Given the description of an element on the screen output the (x, y) to click on. 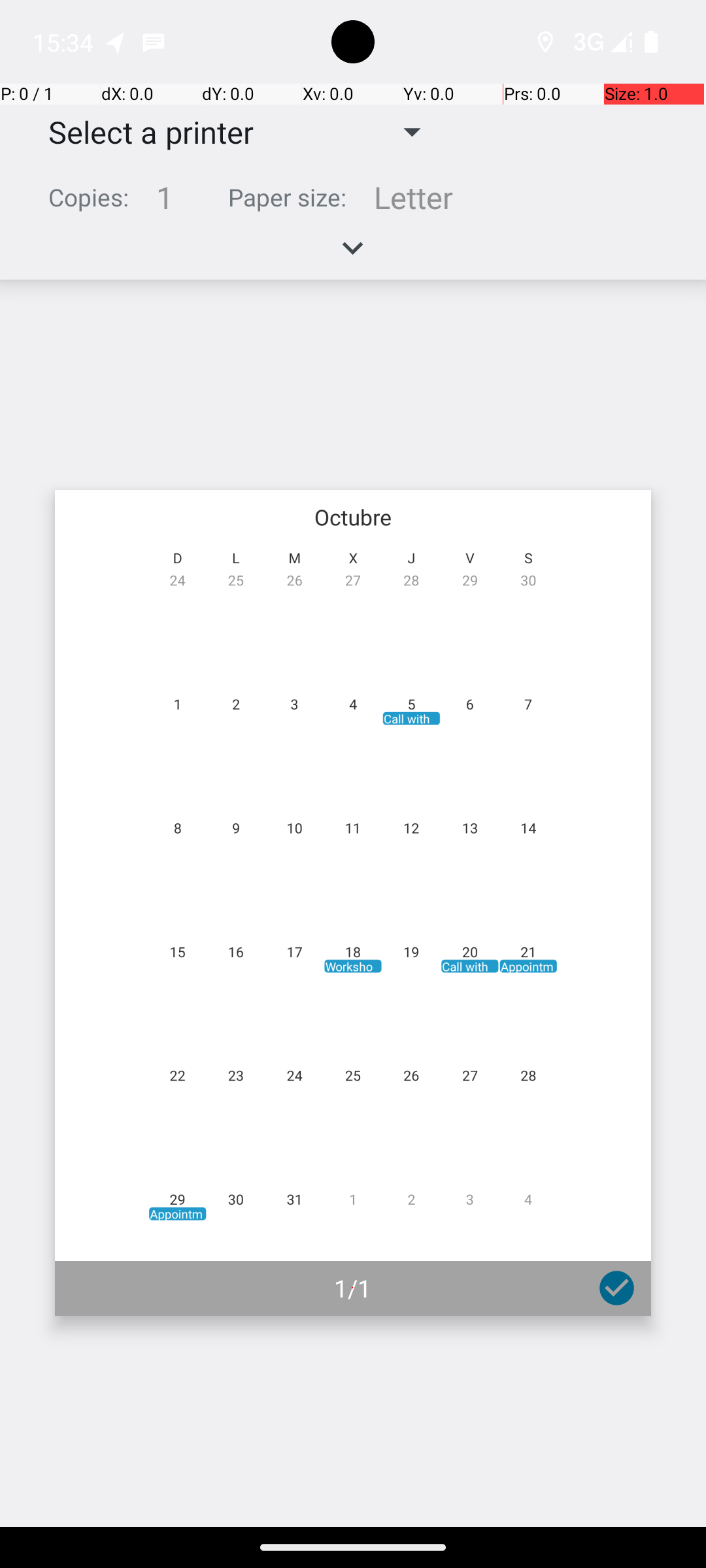
Expand handle Element type: android.widget.FrameLayout (353, 255)
Summary, copies 1, paper size Letter Element type: android.widget.LinearLayout (353, 202)
Select a printer Element type: android.widget.TextView (140, 131)
Copies: Element type: android.widget.TextView (88, 196)
Paper size: Element type: android.widget.TextView (287, 196)
Letter Element type: android.widget.TextView (413, 196)
Page 1 of 1 Element type: android.widget.CompoundButton (352, 902)
1/1 Element type: android.widget.TextView (352, 1287)
